Given the description of an element on the screen output the (x, y) to click on. 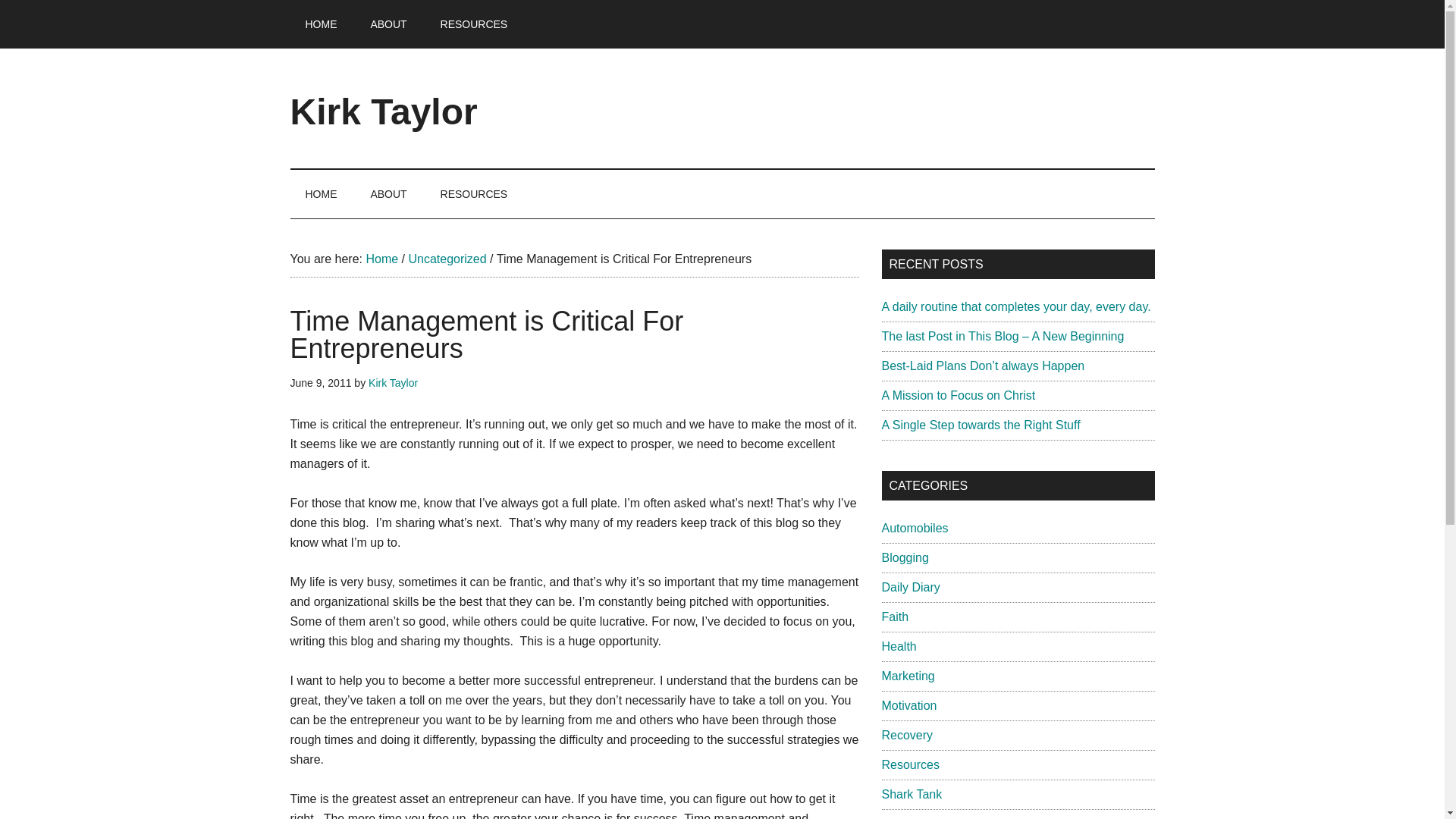
Daily Diary (909, 586)
Automobiles (913, 527)
A Mission to Focus on Christ (957, 395)
Kirk Taylor (383, 111)
Marketing (907, 675)
Home (381, 258)
Kirk Taylor (392, 382)
Uncategorized (446, 258)
Shark Tank (911, 793)
